Given the description of an element on the screen output the (x, y) to click on. 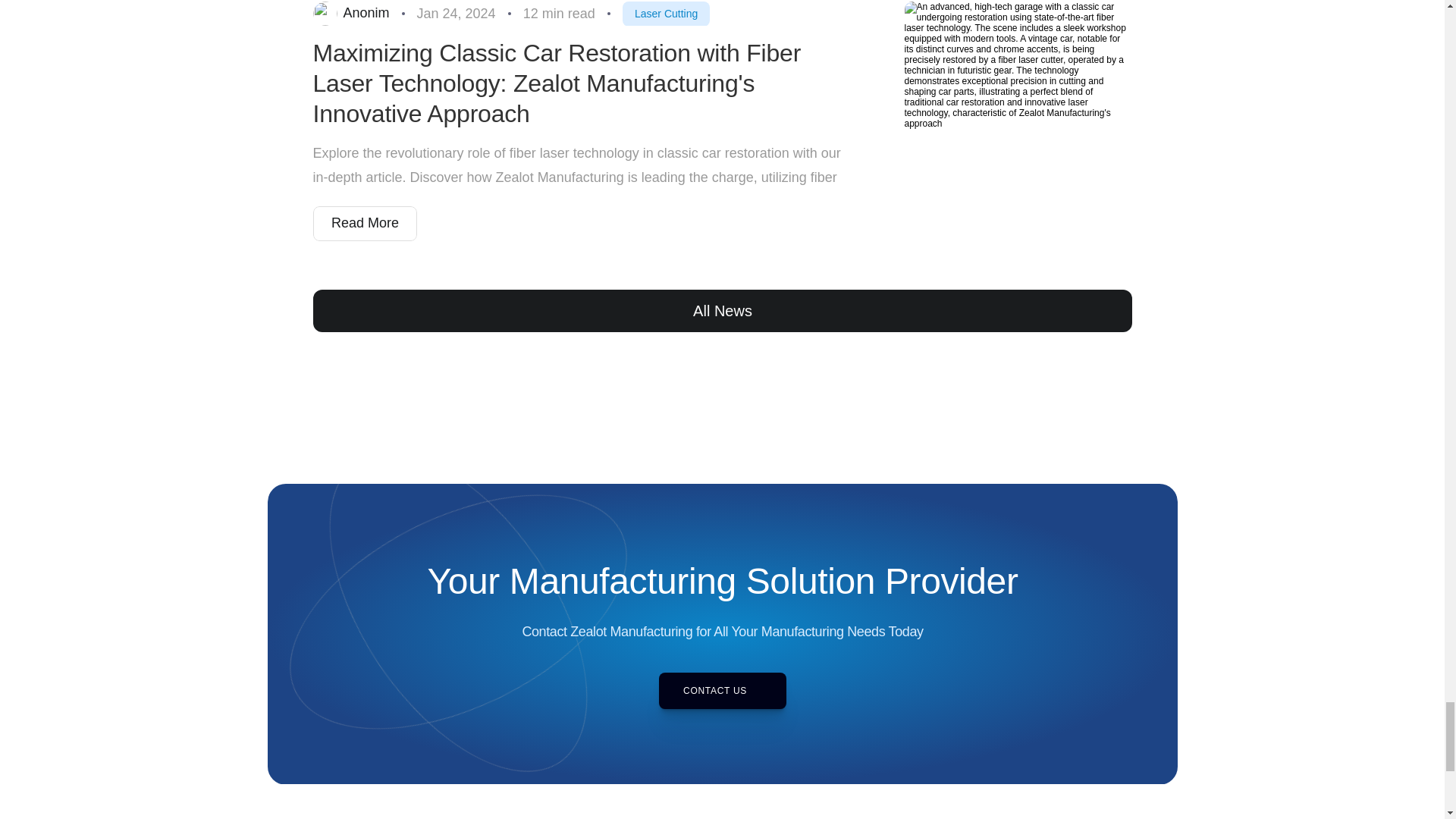
Read More (364, 223)
All News (722, 310)
CONTACT US (722, 690)
